Given the description of an element on the screen output the (x, y) to click on. 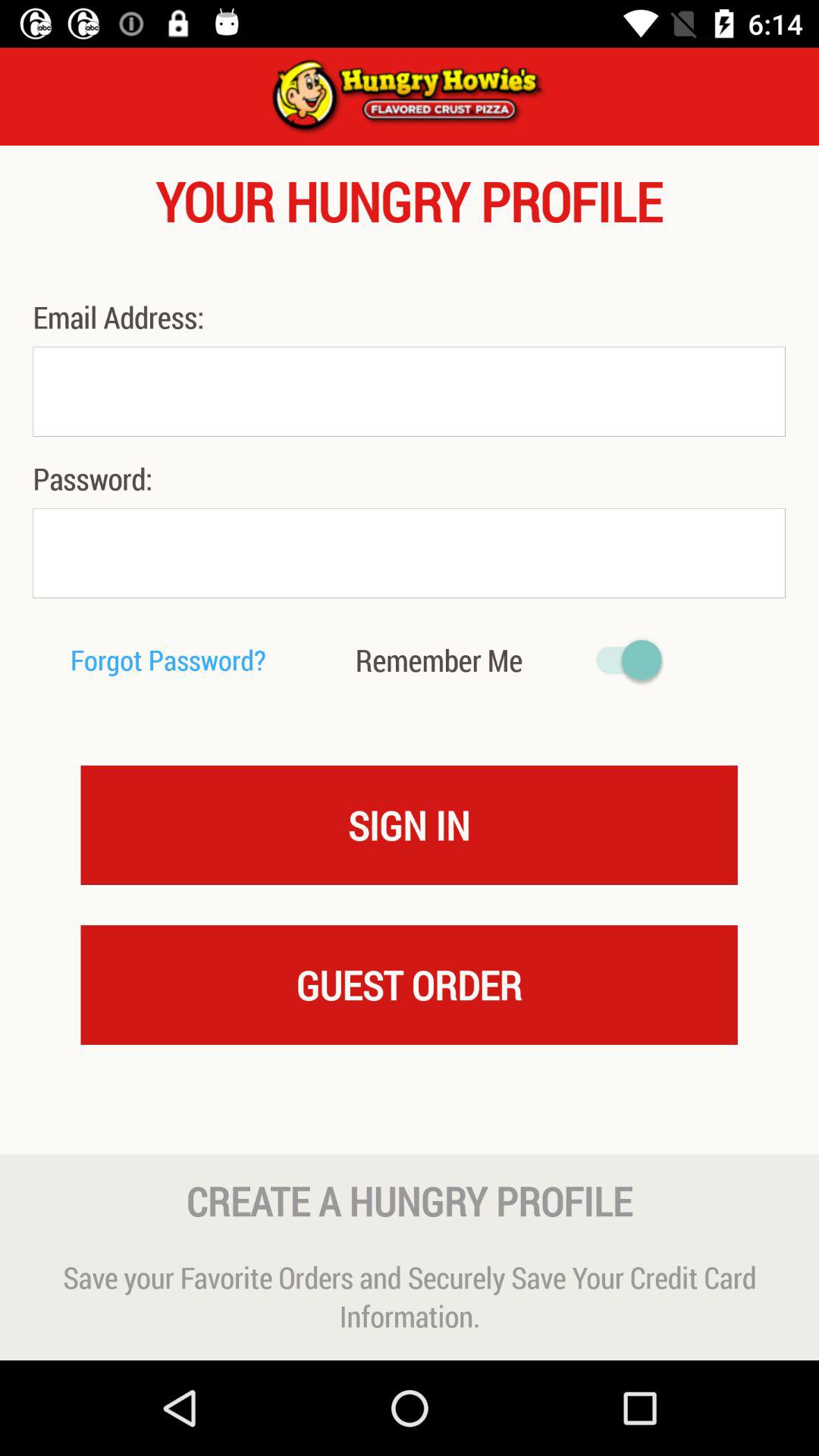
email field (408, 391)
